Given the description of an element on the screen output the (x, y) to click on. 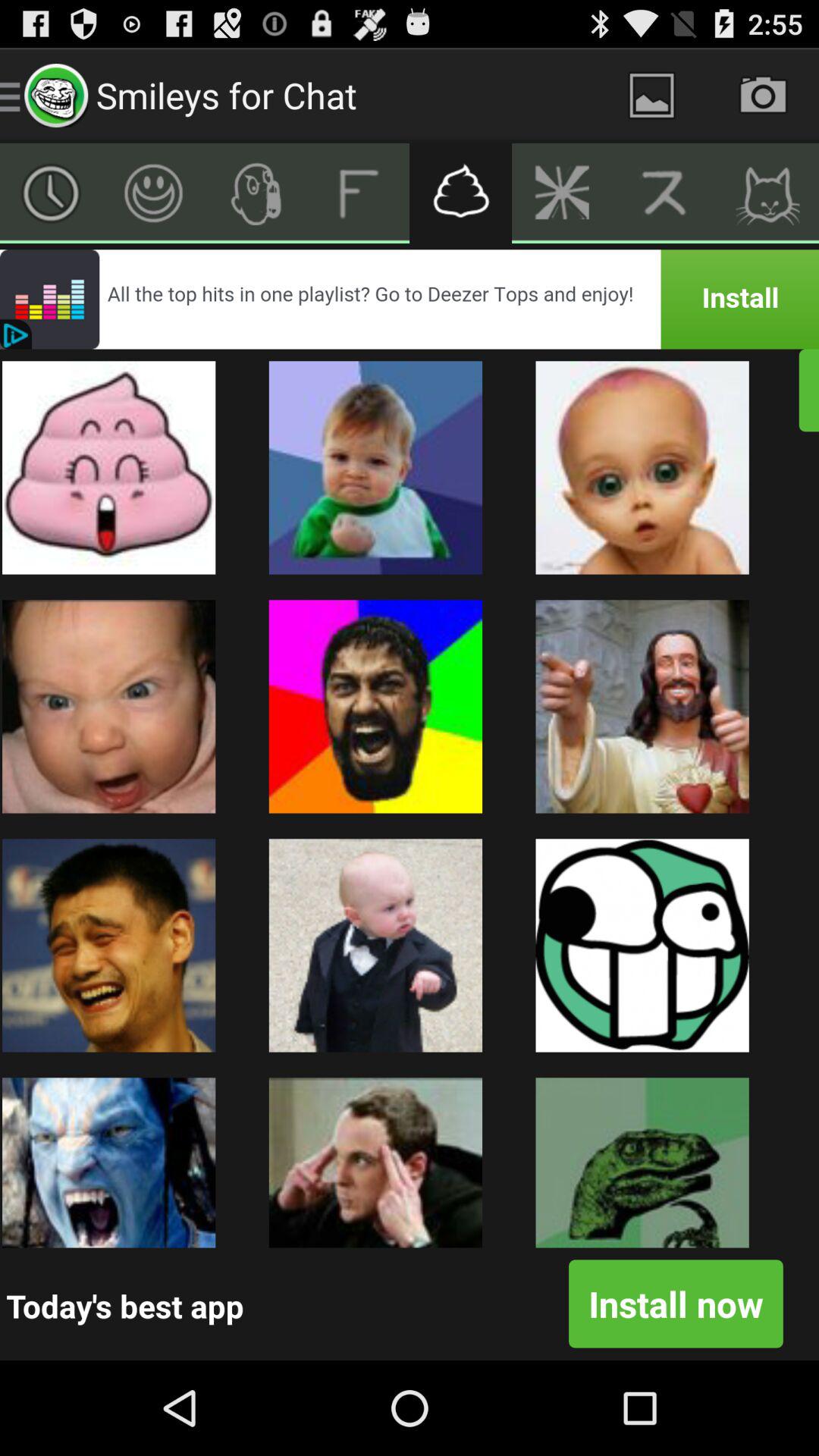
go to camera (763, 95)
